Given the description of an element on the screen output the (x, y) to click on. 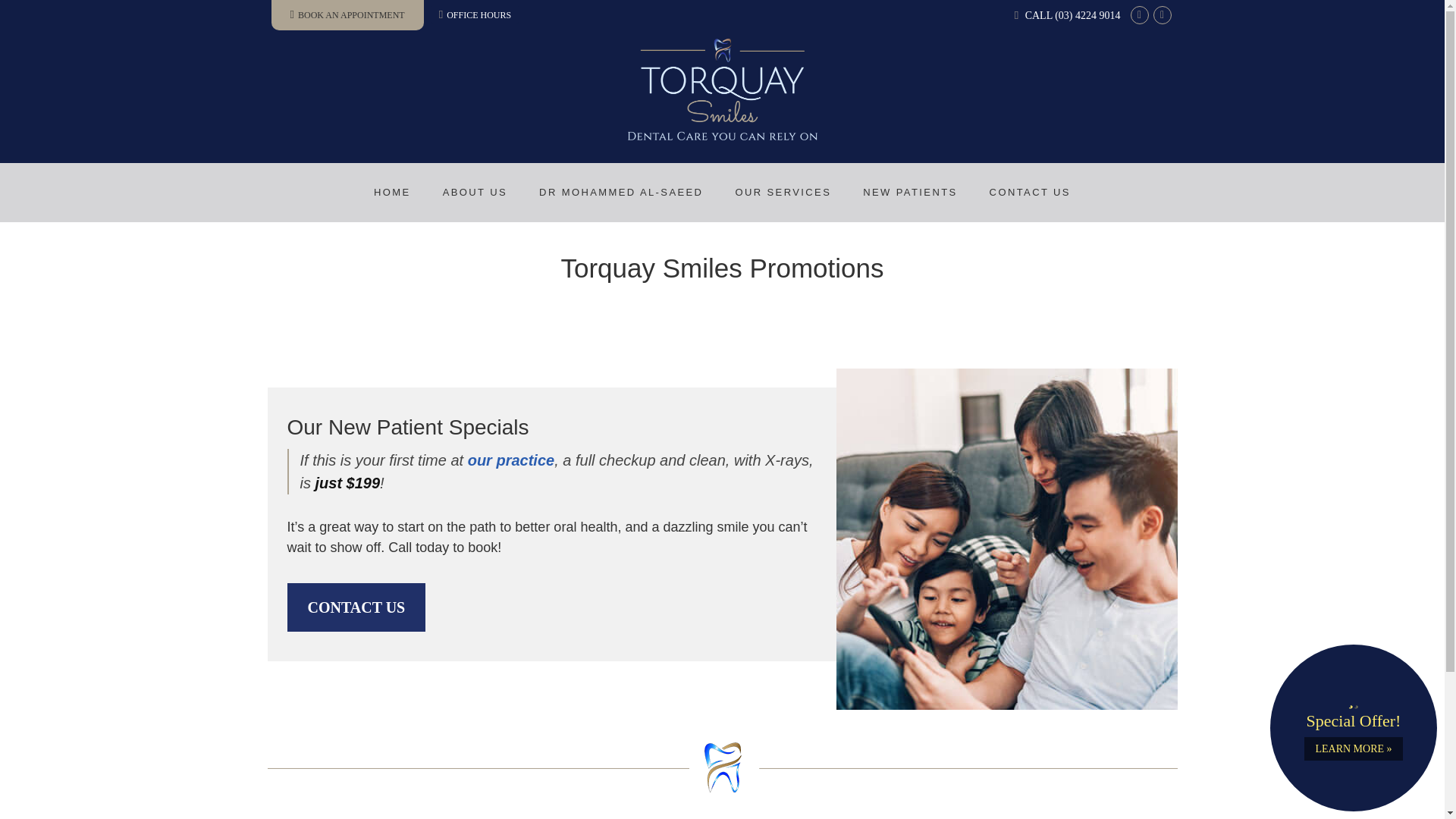
CONTACT US (355, 607)
Torquay Smiles (721, 134)
DR MOHAMMED AL-SAEED (620, 192)
OFFICE HOURS (474, 14)
HOME (392, 192)
Facebook Social Button (1138, 14)
BOOK AN APPOINTMENT (346, 15)
OUR SERVICES (783, 192)
Instagram Social Button (1161, 14)
Welcome to Torquay Smiles (721, 134)
our practice (510, 460)
ABOUT US (474, 192)
CONTACT US (1030, 192)
NEW PATIENTS (909, 192)
